Given the description of an element on the screen output the (x, y) to click on. 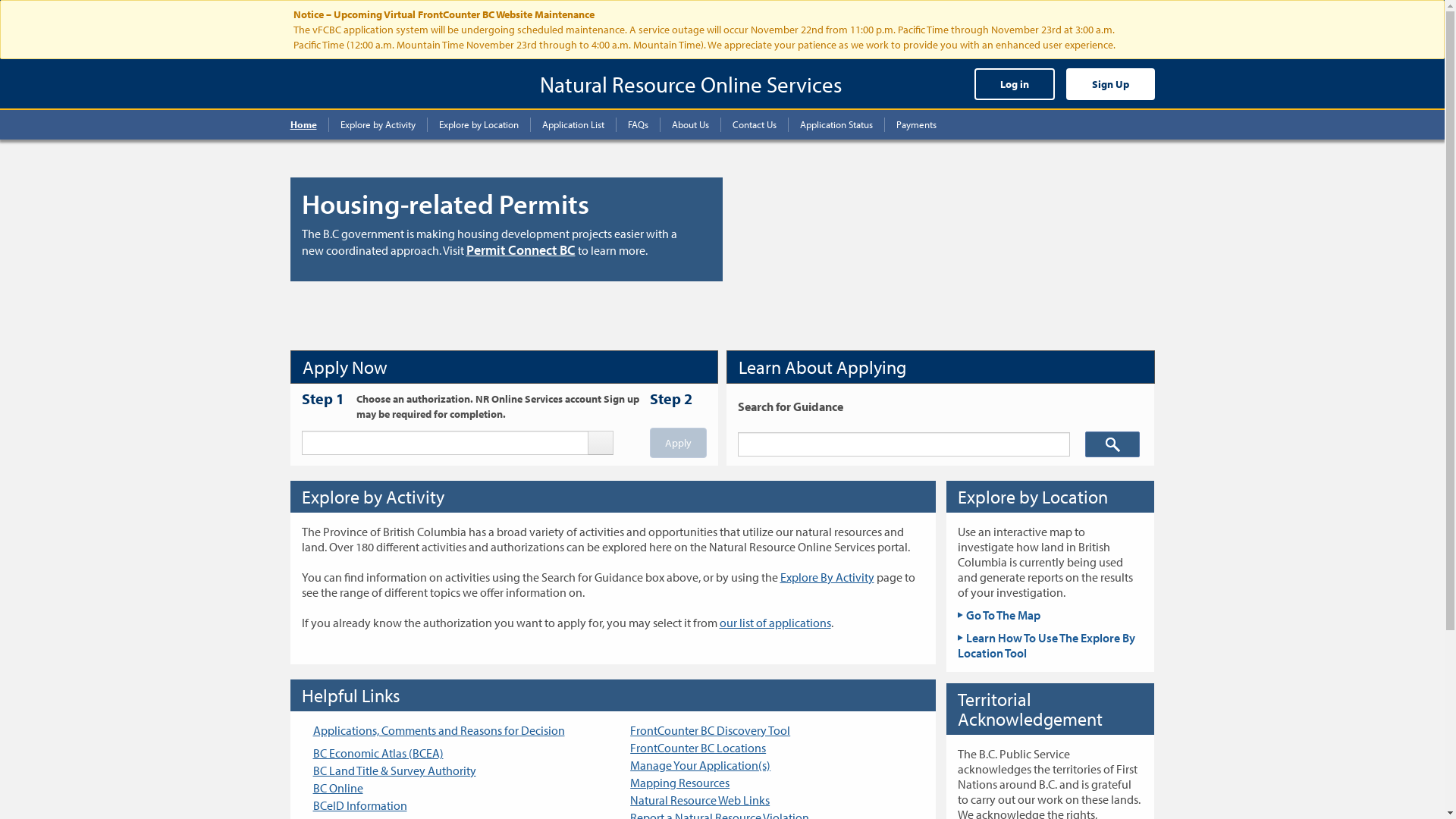
Log in Element type: text (1013, 84)
FAQs Element type: text (637, 124)
BC Land Title & Survey Authority Element type: text (393, 770)
British Columbia Element type: text (347, 81)
Application Status Element type: text (836, 124)
Explore by Location Element type: text (478, 124)
Natural Resource Web Links Element type: text (699, 799)
Application List Element type: text (573, 124)
BCeID Information Element type: text (359, 804)
Permit Connect BC Element type: text (519, 249)
Mapping Resources Element type: text (679, 782)
Explore by Activity Element type: text (378, 124)
our list of applications Element type: text (774, 622)
About Us Element type: text (689, 124)
Manage Your Application(s) Element type: text (700, 764)
Payments Element type: text (909, 124)
Sign Up Element type: text (1110, 84)
Home Element type: text (308, 124)
Explore By Activity Element type: text (826, 576)
Learn How To Use The Explore By Location Tool Element type: text (1046, 645)
Go To The Map Element type: text (998, 614)
Applications, Comments and Reasons for Decision Element type: text (438, 729)
FrontCounter BC Locations Element type: text (697, 747)
BC Online Element type: text (337, 787)
  Element type: text (600, 442)
BC Economic Atlas (BCEA) Element type: text (377, 752)
Contact Us Element type: text (753, 124)
FrontCounter BC Discovery Tool Element type: text (710, 729)
